Given the description of an element on the screen output the (x, y) to click on. 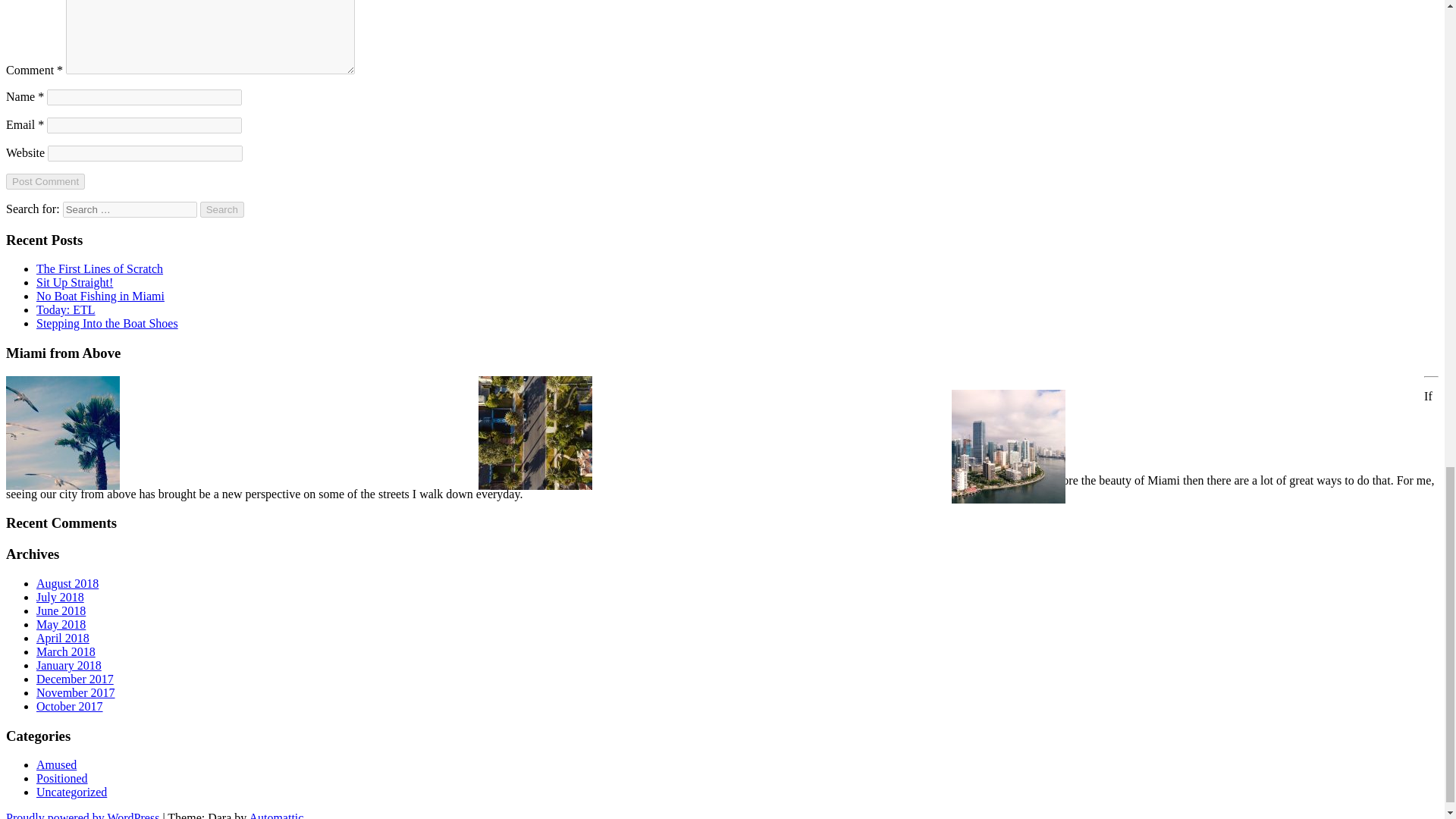
October 2017 (69, 706)
June 2018 (60, 610)
March 2018 (66, 651)
Search (222, 209)
Sit Up Straight! (74, 282)
May 2018 (60, 624)
The First Lines of Scratch (99, 268)
August 2018 (67, 583)
Today: ETL (66, 309)
July 2018 (60, 596)
